Given the description of an element on the screen output the (x, y) to click on. 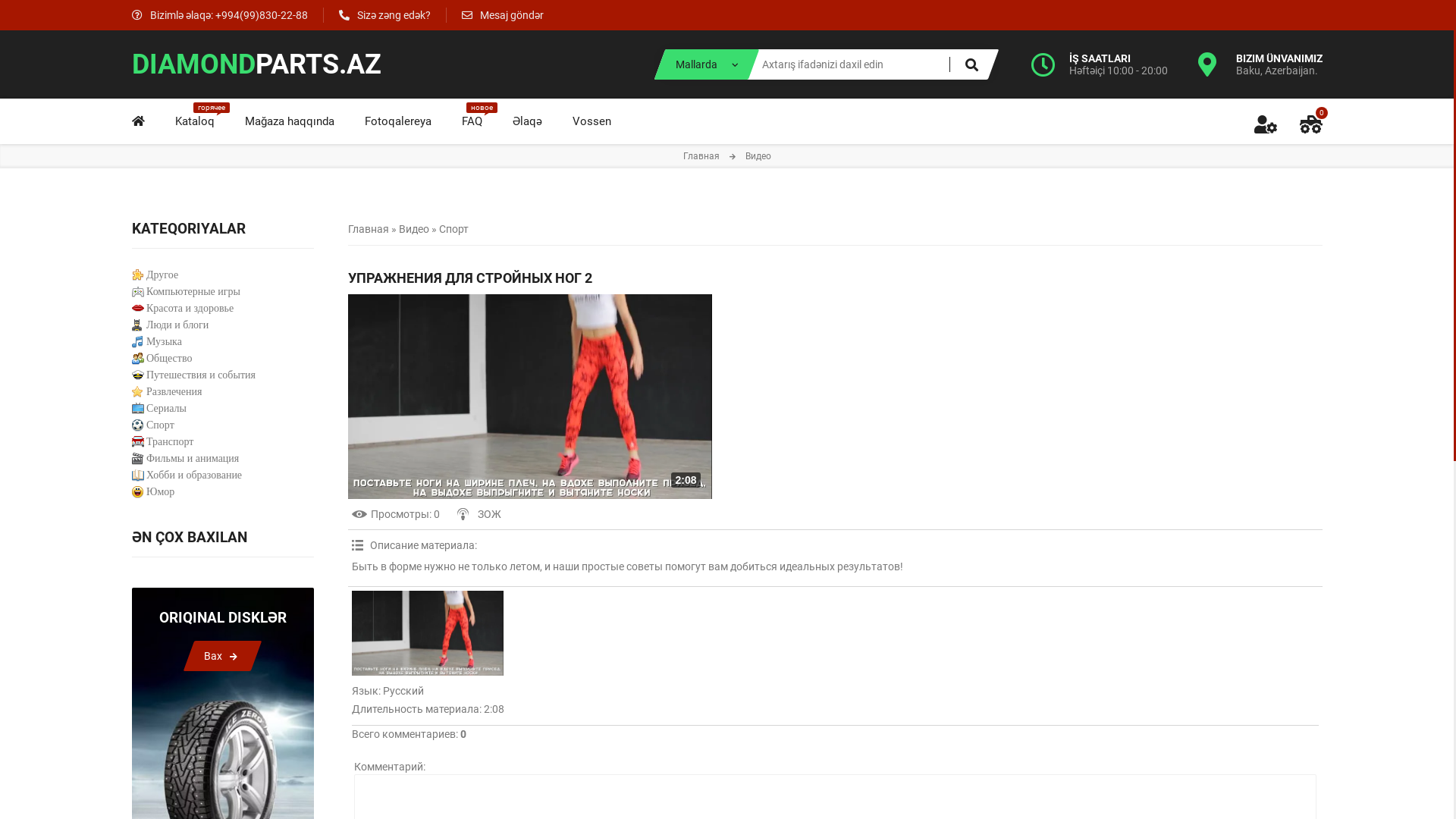
Vossen Element type: text (590, 121)
Images Element type: hover (427, 632)
FAQ Element type: text (470, 121)
2:08 Element type: text (529, 396)
DIAMONDPARTS.AZ Element type: text (256, 64)
Kataloq Element type: text (194, 121)
Axtar Element type: hover (971, 64)
Bax Element type: text (217, 655)
Fotoqalereya Element type: text (396, 121)
